Given the description of an element on the screen output the (x, y) to click on. 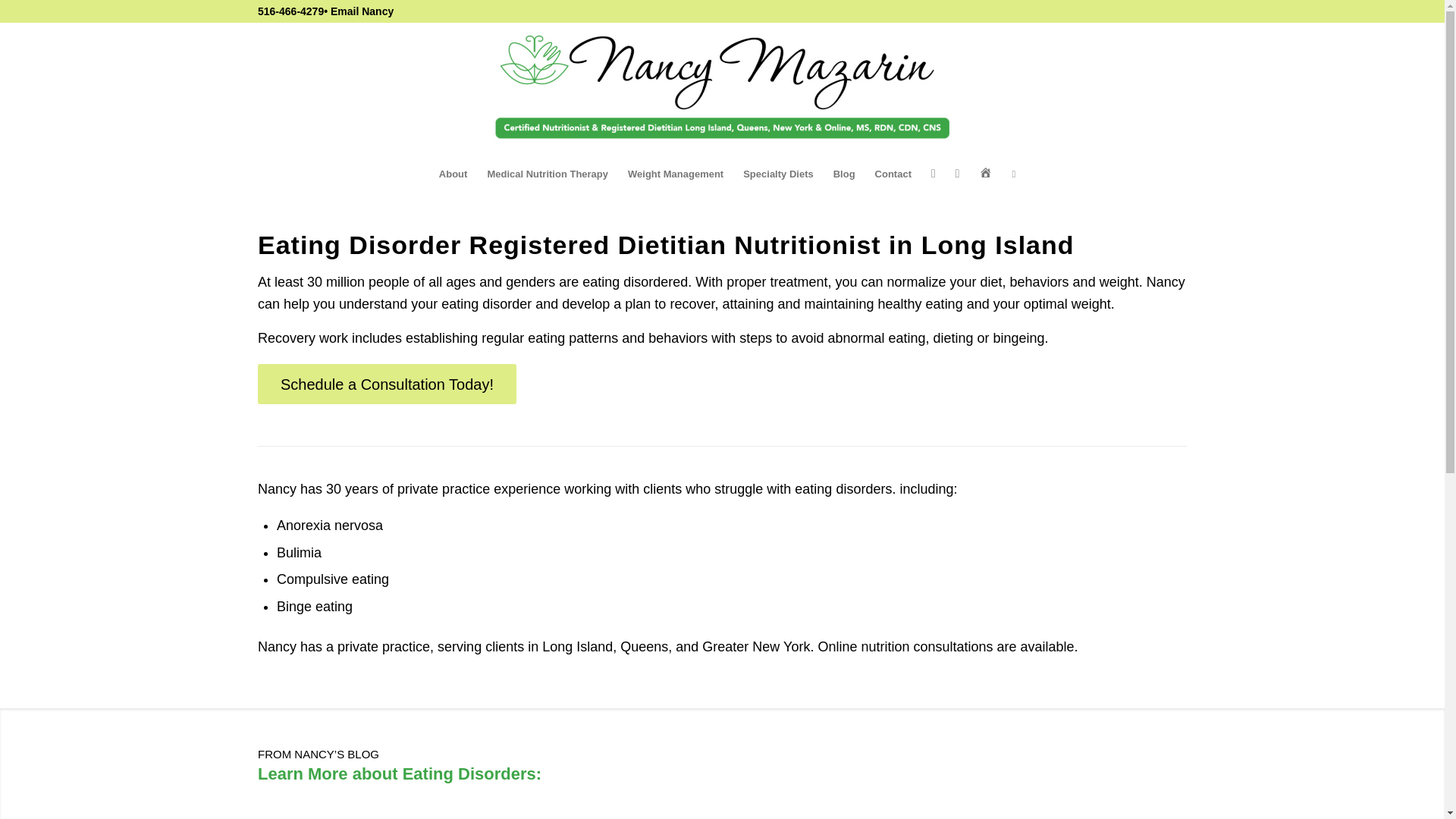
Specialty Diets (778, 174)
About (453, 174)
About (453, 174)
Weight Management (675, 174)
Medical Nutrition Therapy (547, 174)
516-466-4279 (290, 10)
Schedule a Consultation Today! (386, 383)
Contact (892, 174)
Blog (844, 174)
